Given the description of an element on the screen output the (x, y) to click on. 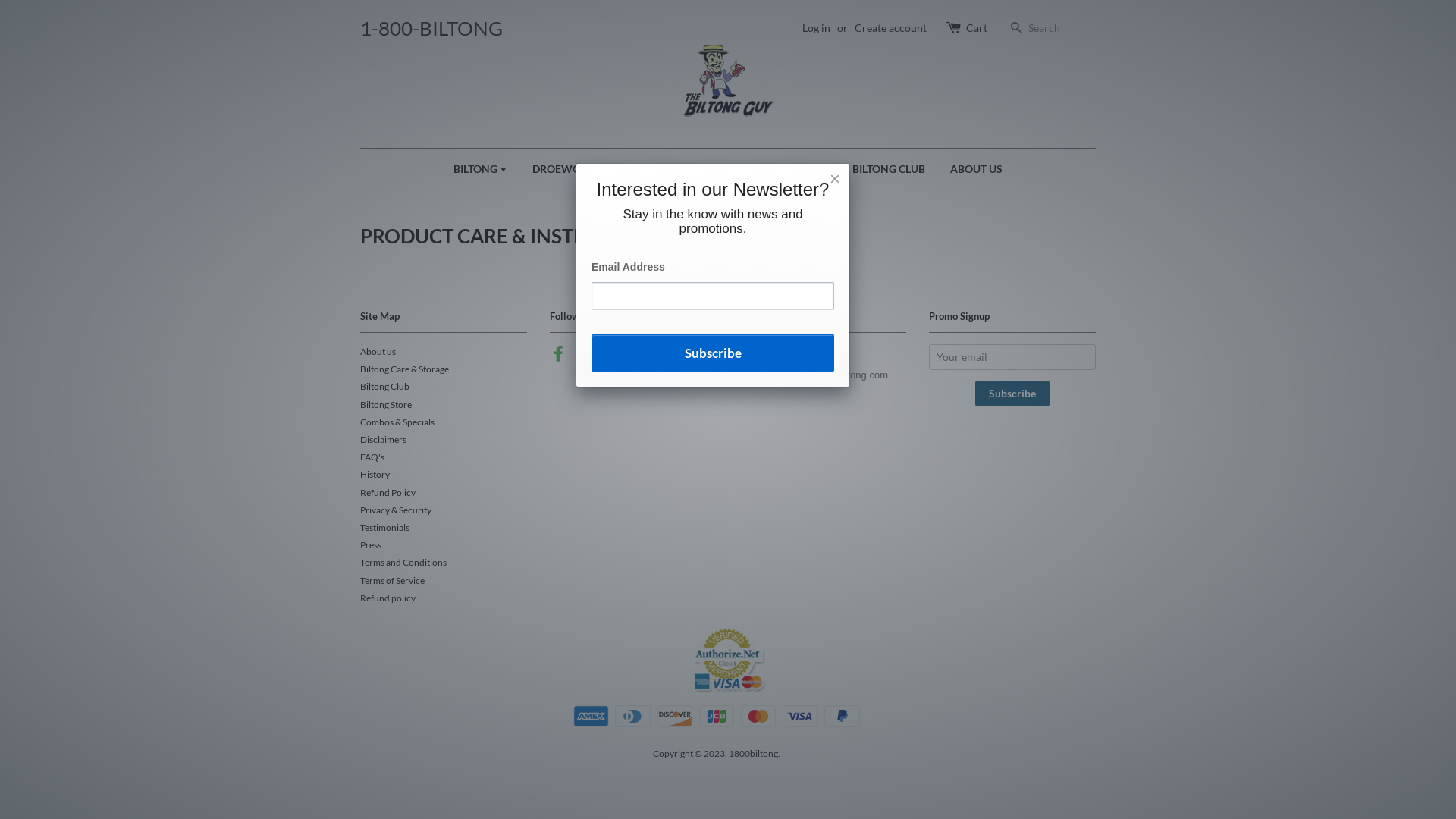
Instagram Element type: text (584, 356)
Disclaimers Element type: text (383, 439)
Log in Element type: text (816, 27)
Biltong Club Element type: text (384, 386)
COMBOS & SPECIALS Element type: text (671, 168)
Refund policy Element type: text (387, 597)
Biltong Store Element type: text (385, 404)
Create account Element type: text (890, 27)
Testimonials Element type: text (384, 527)
Terms of Service Element type: text (392, 580)
About us Element type: text (377, 351)
History Element type: text (374, 474)
Combos & Specials Element type: text (397, 421)
Refund Policy Element type: text (387, 492)
Search Element type: text (1015, 27)
ABOUT US Element type: text (970, 168)
Subscribe Element type: text (1012, 393)
Cart Element type: text (976, 27)
1800biltong Element type: text (753, 753)
Privacy & Security Element type: text (395, 509)
BILTONG Element type: text (485, 168)
customerservice@800biltong.com Element type: text (813, 374)
Press Element type: text (370, 544)
BILTONG CLUB Element type: text (888, 168)
FAQ's Element type: text (372, 456)
GLATT KOSHER Element type: text (788, 168)
DROEWORS Element type: text (562, 168)
Facebook Element type: text (557, 356)
Biltong Care & Storage Element type: text (404, 368)
Subscribe Element type: text (712, 352)
Terms and Conditions Element type: text (403, 561)
